Given the description of an element on the screen output the (x, y) to click on. 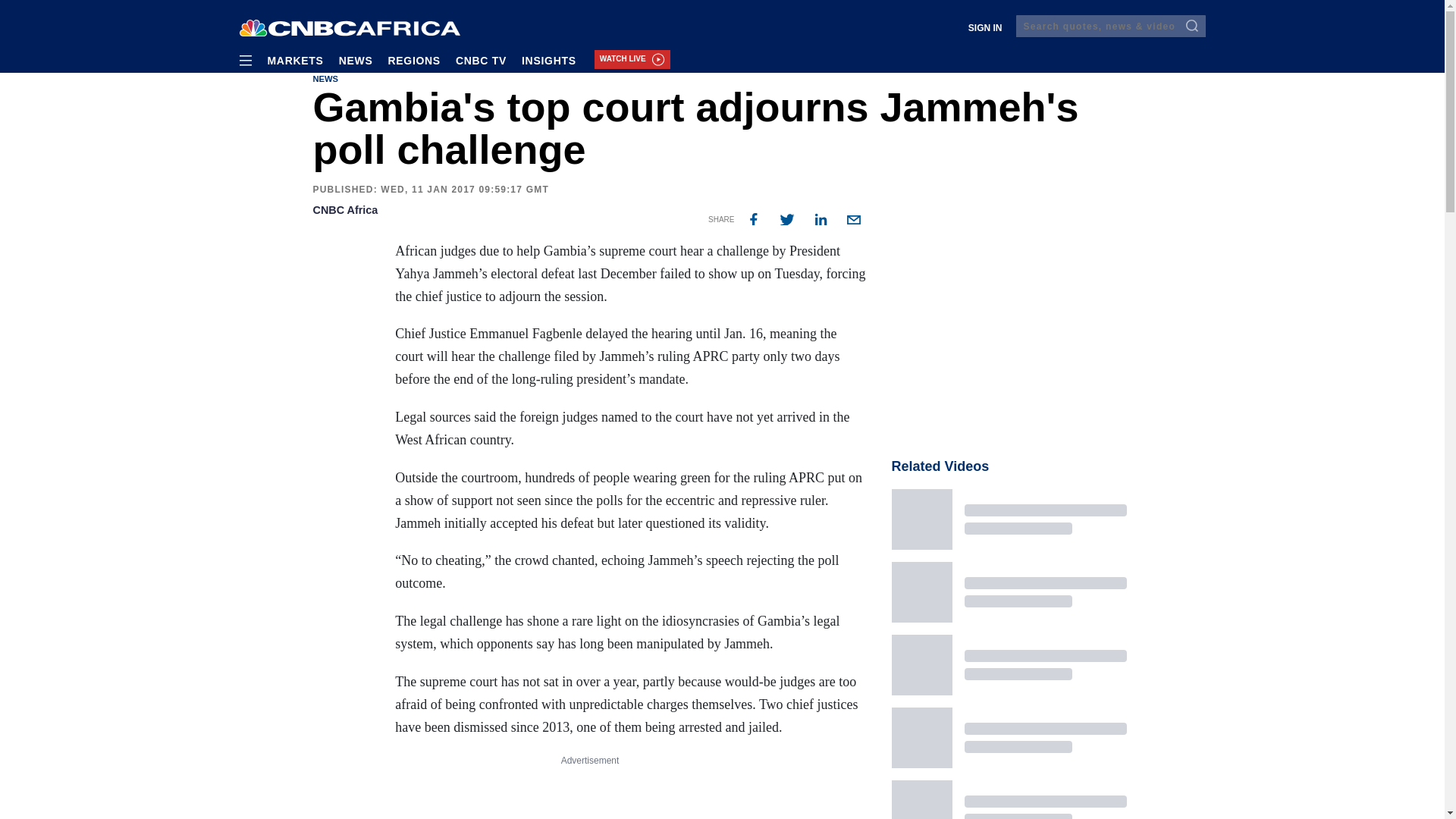
CNBC TV (488, 59)
Gambia's top court adjourns Jammeh's poll challenge (852, 219)
SIGN IN (985, 28)
NEWS (363, 59)
Gambia's top court adjourns Jammeh's poll challenge (752, 219)
REGIONS (420, 59)
MARKETS (301, 59)
